Given the description of an element on the screen output the (x, y) to click on. 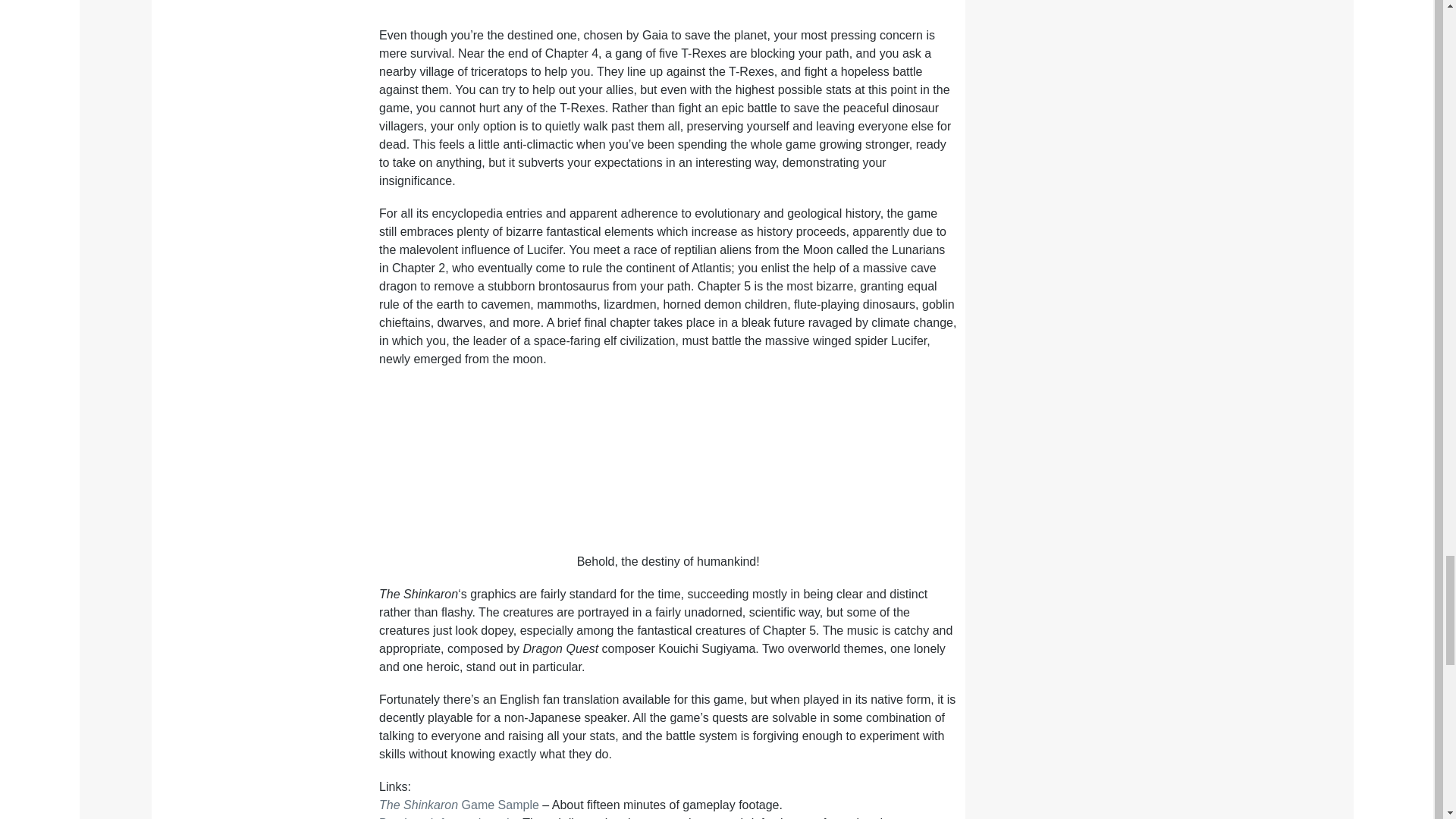
The Shinkaron Game Sample (458, 804)
Bog Leech forum thread (443, 817)
